Given the description of an element on the screen output the (x, y) to click on. 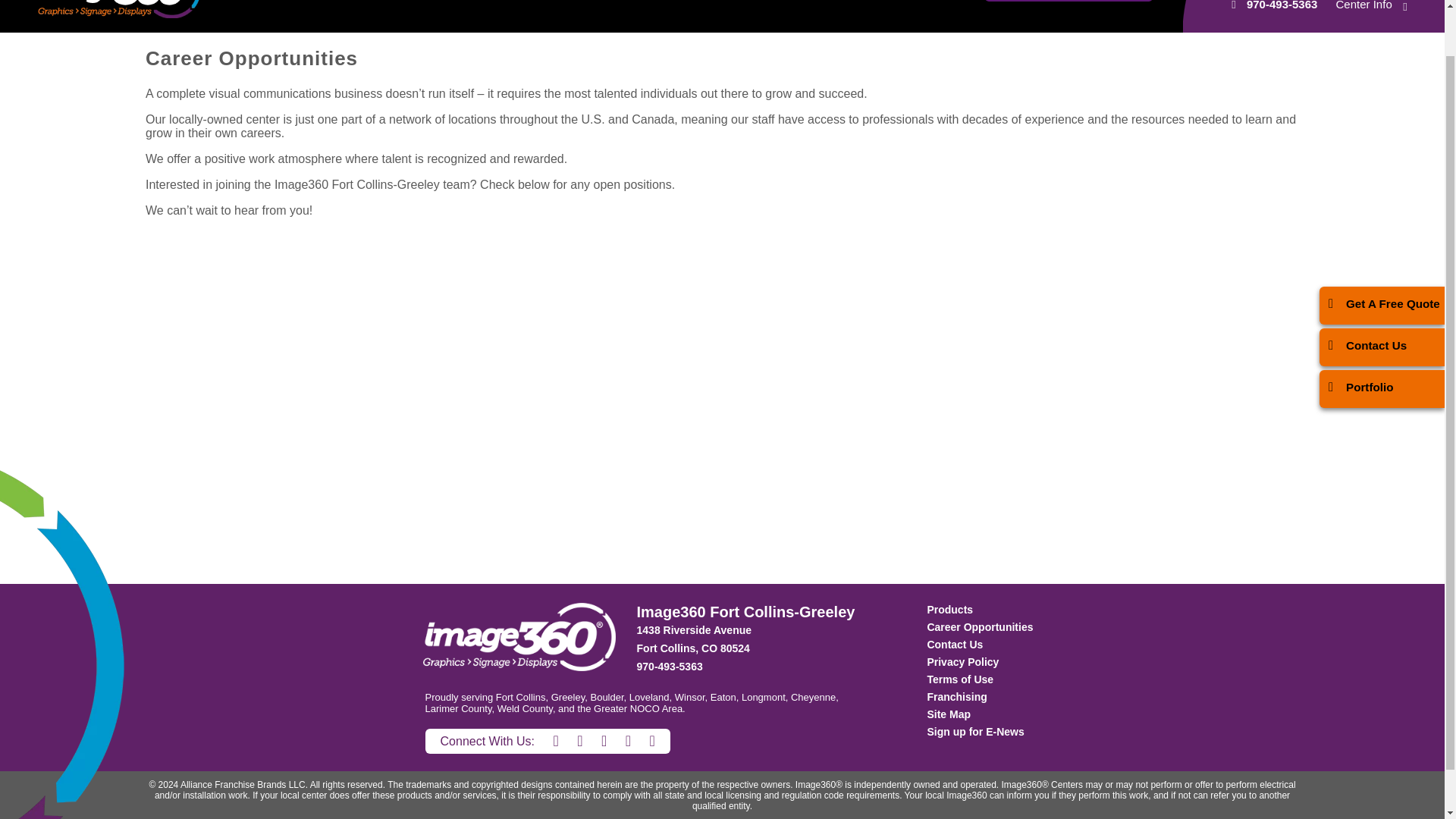
Sign Products (301, 2)
Search (775, 2)
